Given the description of an element on the screen output the (x, y) to click on. 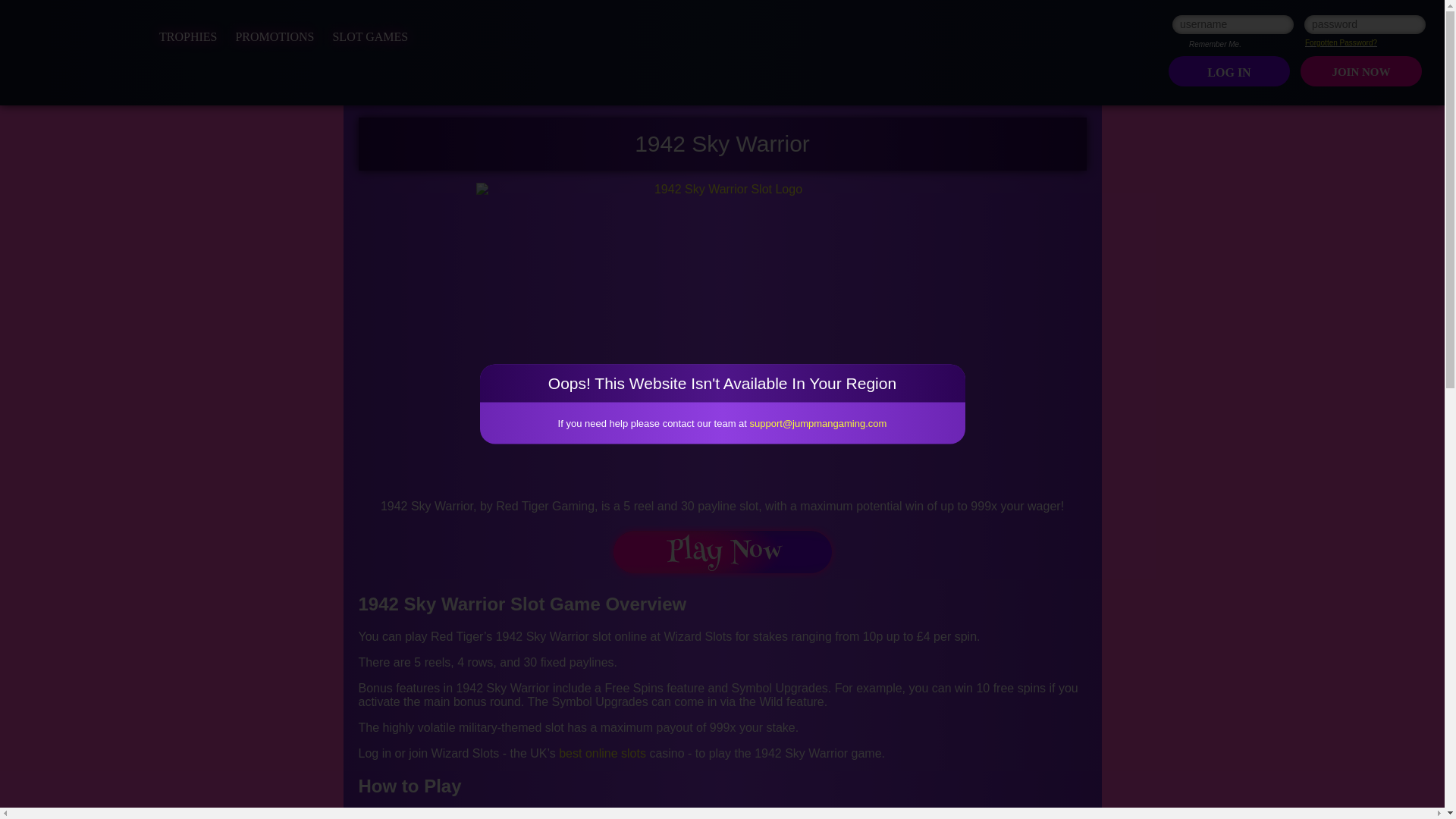
best online slots (602, 753)
Online slots site - Wizard Slots (66, 60)
TROPHIES (187, 36)
PROMOTIONS (274, 36)
1 (1180, 43)
SLOT GAMES (369, 36)
Forgotten Password? (1340, 42)
